Given the description of an element on the screen output the (x, y) to click on. 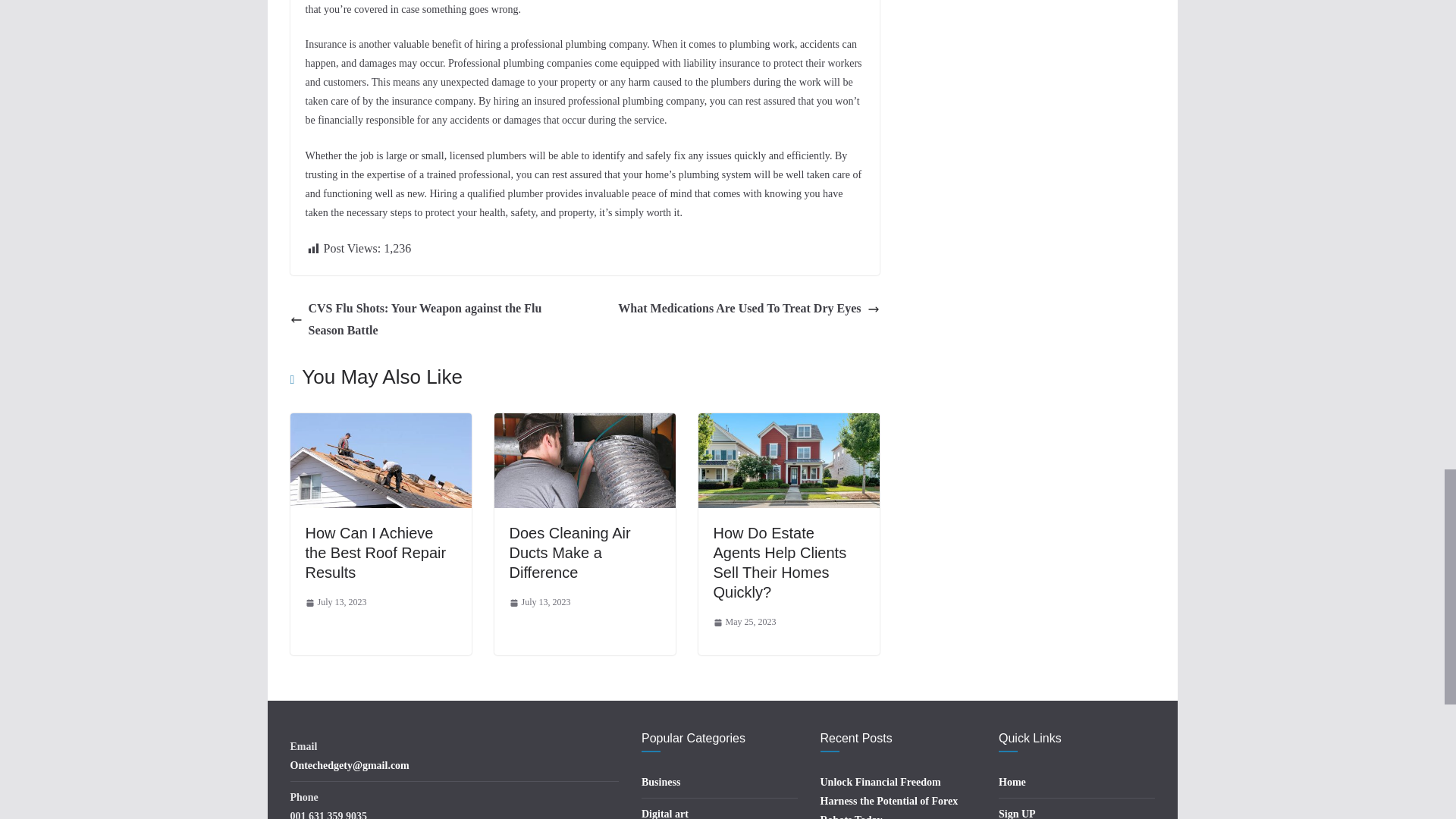
7:57 pm (335, 602)
Does Cleaning Air Ducts Make a Difference (569, 552)
8:03 pm (539, 602)
July 13, 2023 (539, 602)
Does Cleaning Air Ducts Make a Difference (585, 422)
How Do Estate Agents Help Clients Sell Their Homes Quickly? (779, 562)
How Do Estate Agents Help Clients Sell Their Homes Quickly? (788, 422)
How Can I Achieve the Best Roof Repair Results (379, 422)
How Can I Achieve the Best Roof Repair Results (374, 552)
What Medications Are Used To Treat Dry Eyes (748, 309)
Does Cleaning Air Ducts Make a Difference (569, 552)
How Do Estate Agents Help Clients Sell Their Homes Quickly? (779, 562)
CVS Flu Shots: Your Weapon against the Flu Season Battle (432, 320)
July 13, 2023 (335, 602)
How Can I Achieve the Best Roof Repair Results (374, 552)
